Given the description of an element on the screen output the (x, y) to click on. 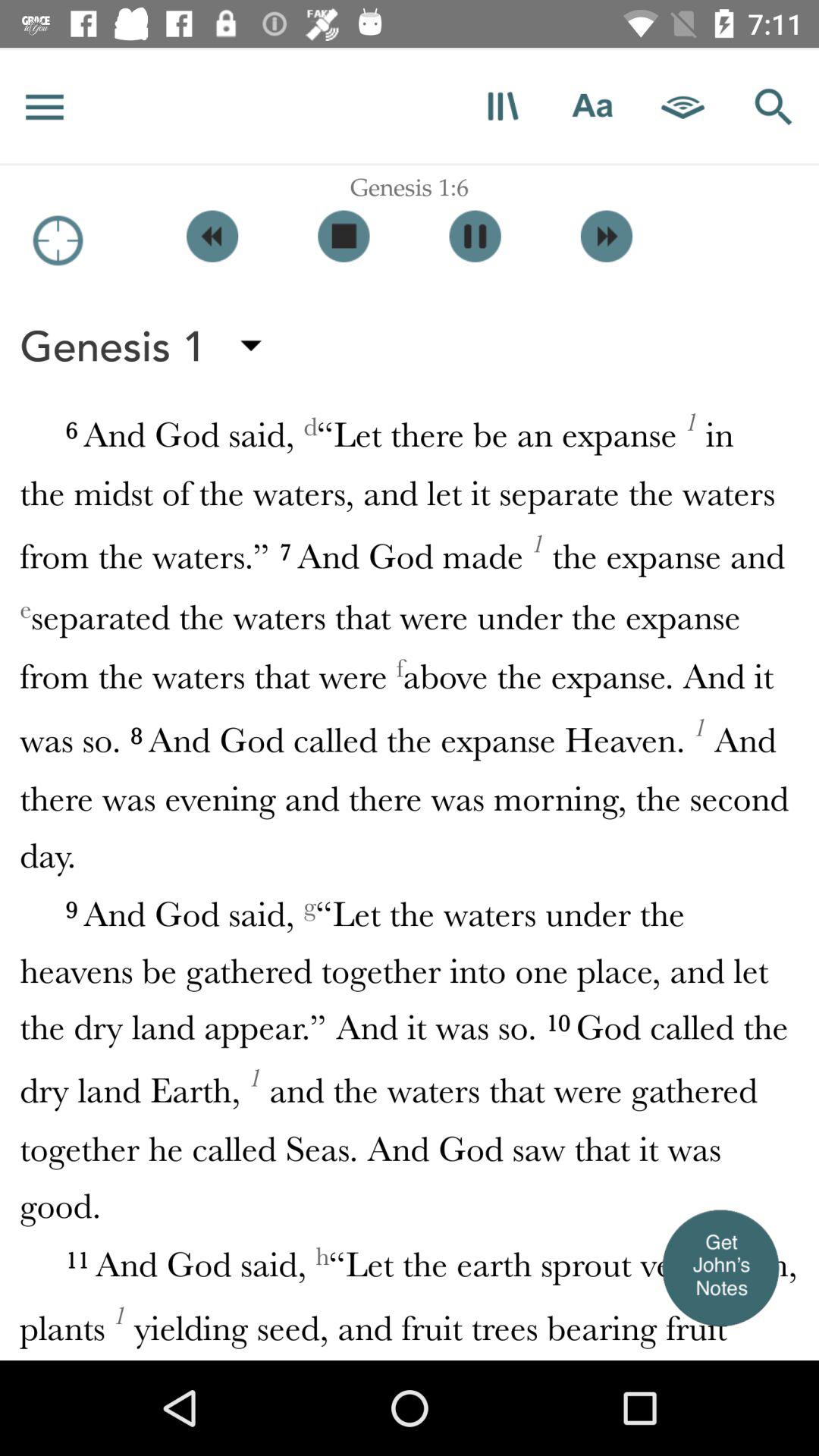
uppercase/lowercase (592, 106)
